Given the description of an element on the screen output the (x, y) to click on. 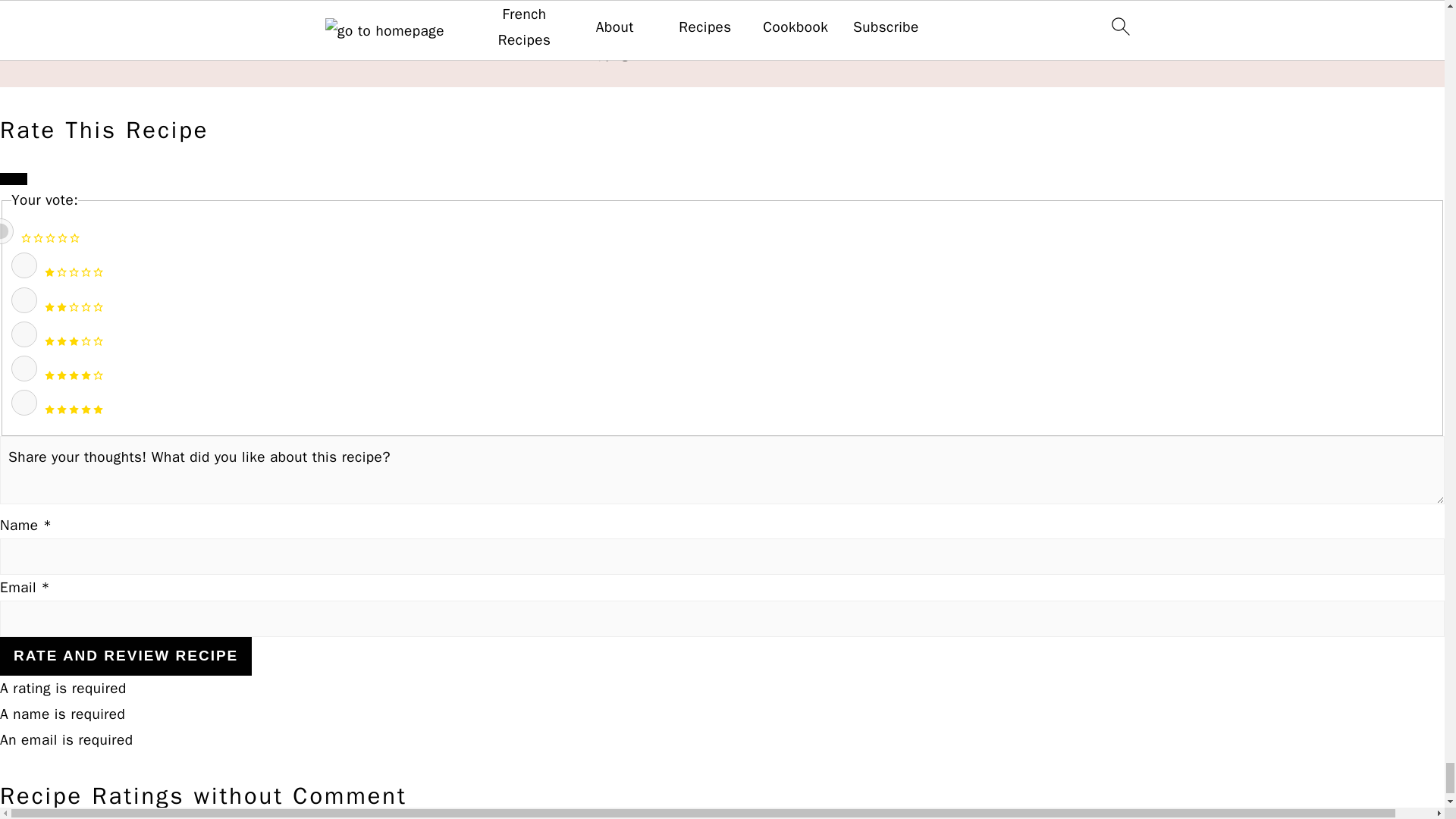
1 (24, 265)
4 (24, 368)
3 (24, 334)
5 (24, 402)
2 (24, 299)
